Given the description of an element on the screen output the (x, y) to click on. 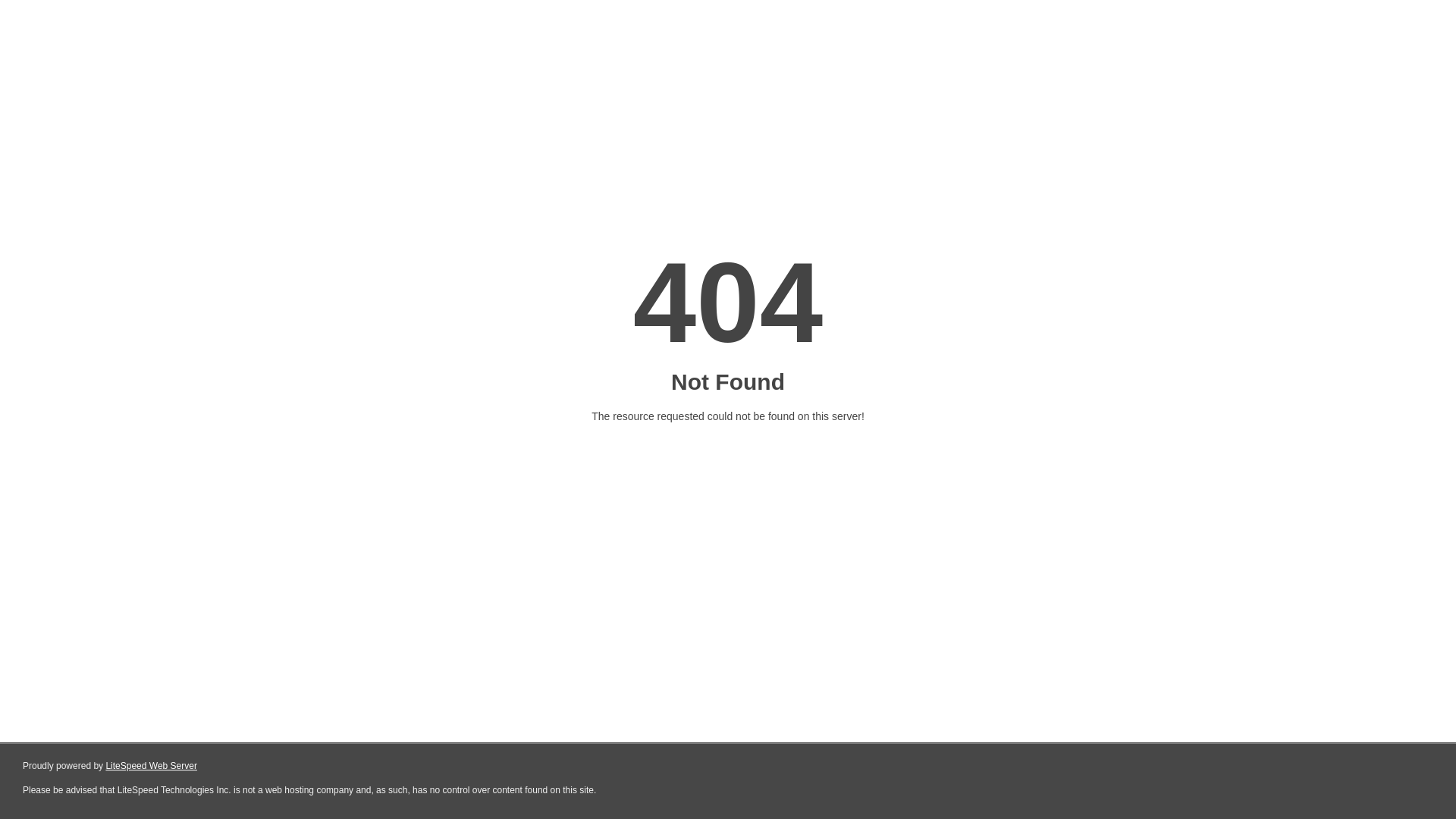
LiteSpeed Web Server Element type: text (151, 765)
